Given the description of an element on the screen output the (x, y) to click on. 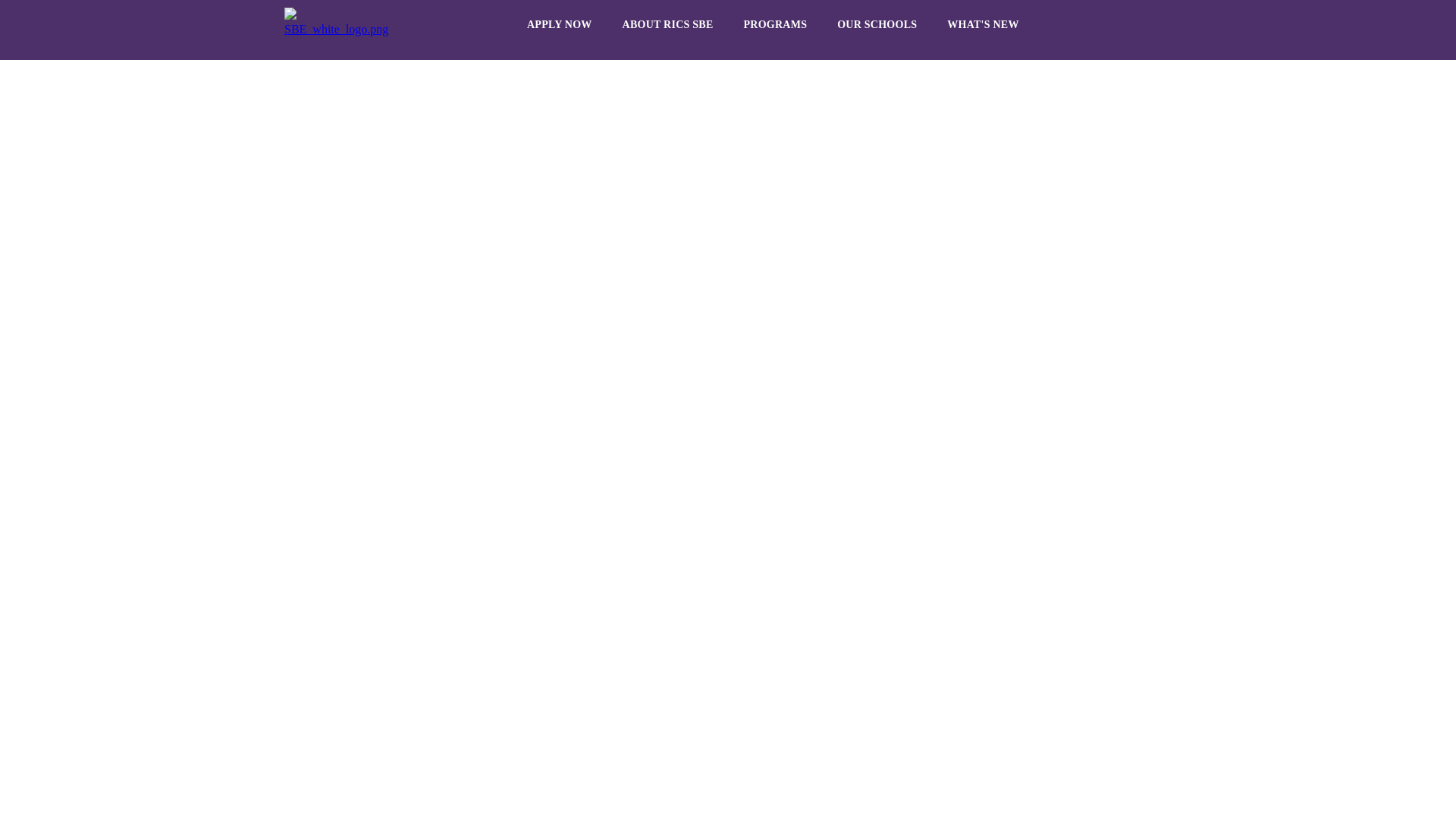
APPLY NOW (559, 24)
ABOUT RICS SBE (668, 24)
WHAT'S NEW (982, 24)
OUR SCHOOLS (876, 24)
PROGRAMS (775, 24)
